Given the description of an element on the screen output the (x, y) to click on. 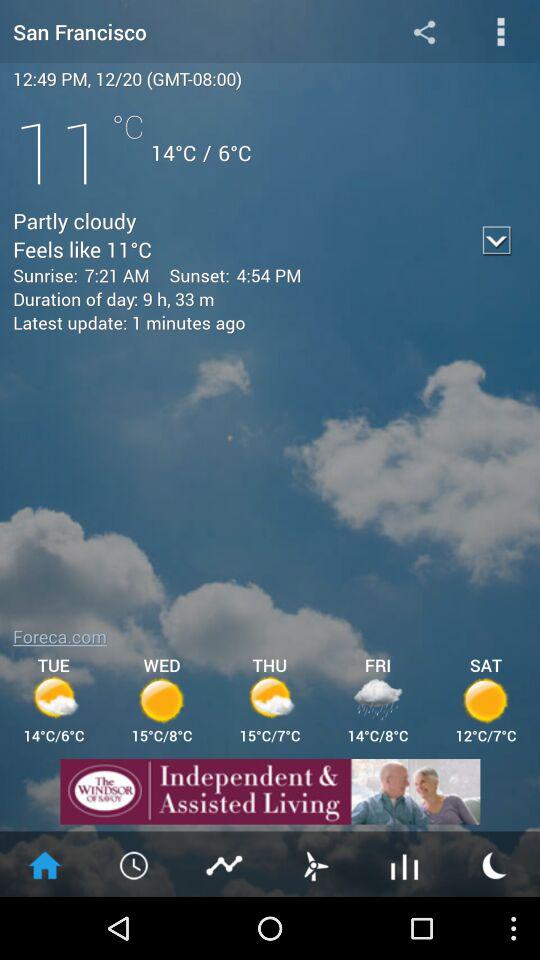
wind display option (315, 864)
